Given the description of an element on the screen output the (x, y) to click on. 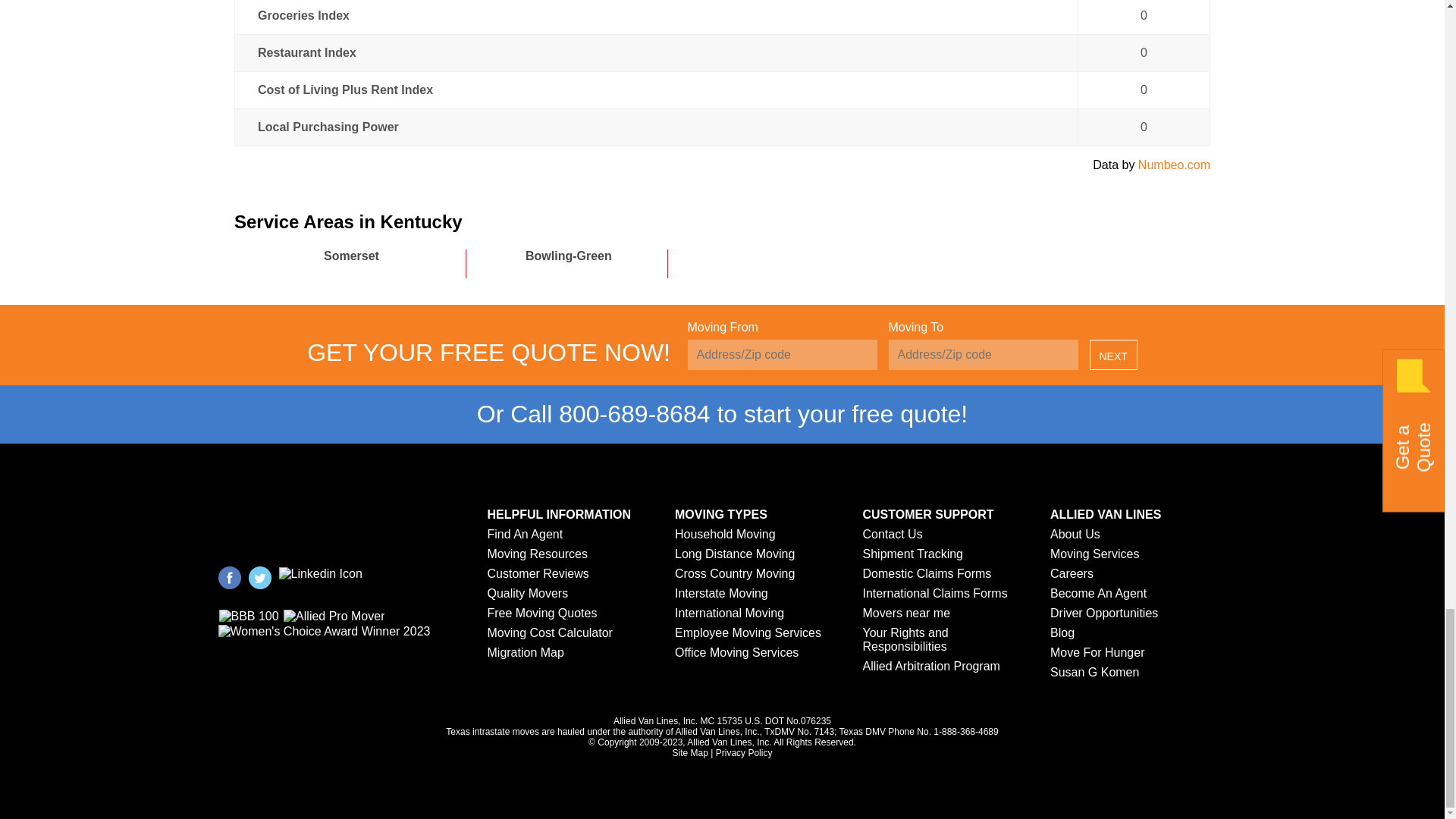
NEXT (1113, 354)
Bowling-Green (557, 255)
Numbeo.com (1173, 164)
Somerset (340, 255)
